Given the description of an element on the screen output the (x, y) to click on. 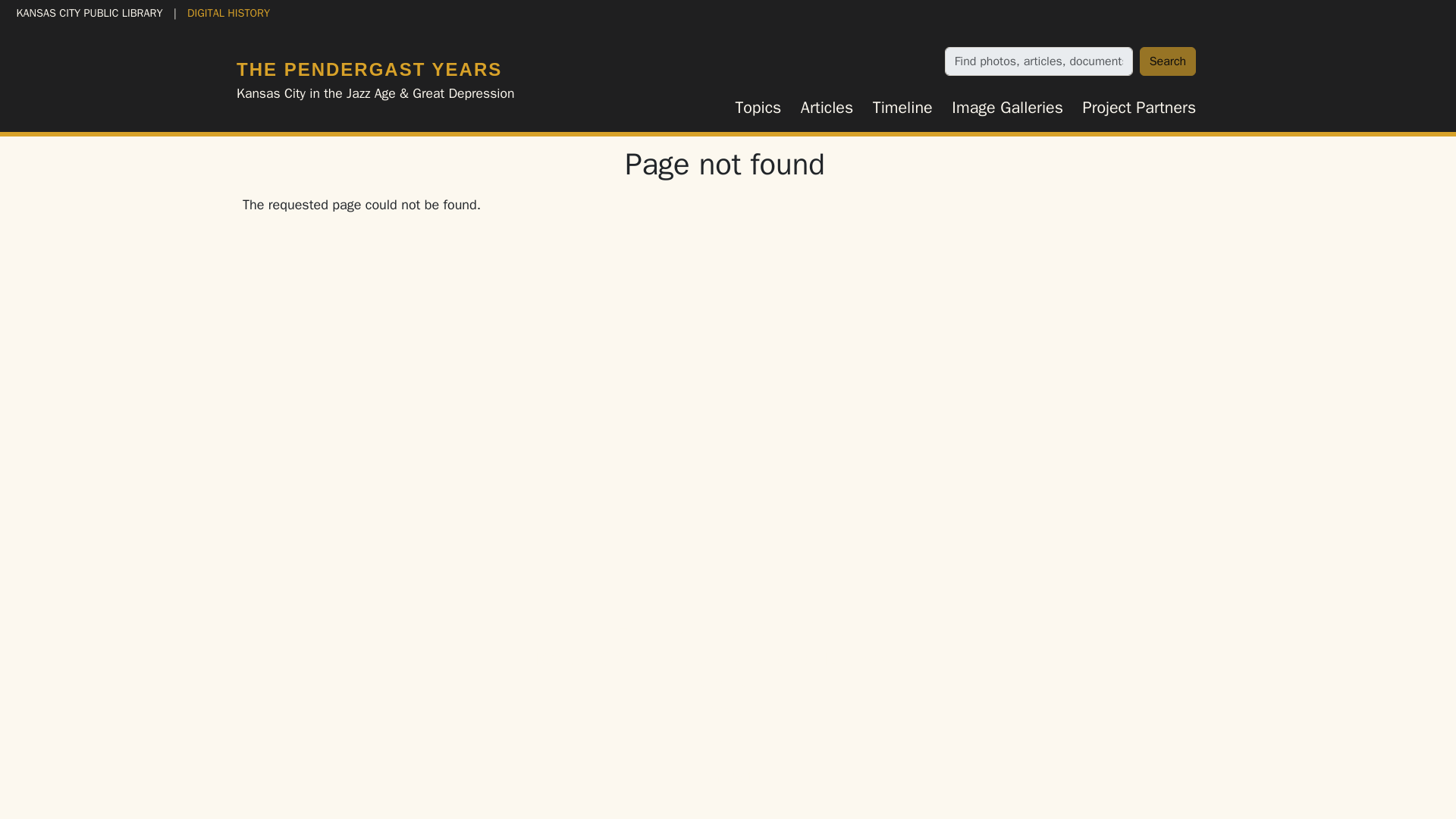
DIGITAL HISTORY (228, 12)
Search (1168, 61)
Topics (757, 107)
Skip to main content (67, 11)
Works Cited (746, 710)
About (725, 739)
Project Partners (1139, 107)
Index (682, 710)
Timeline (902, 107)
Search (1168, 61)
